Given the description of an element on the screen output the (x, y) to click on. 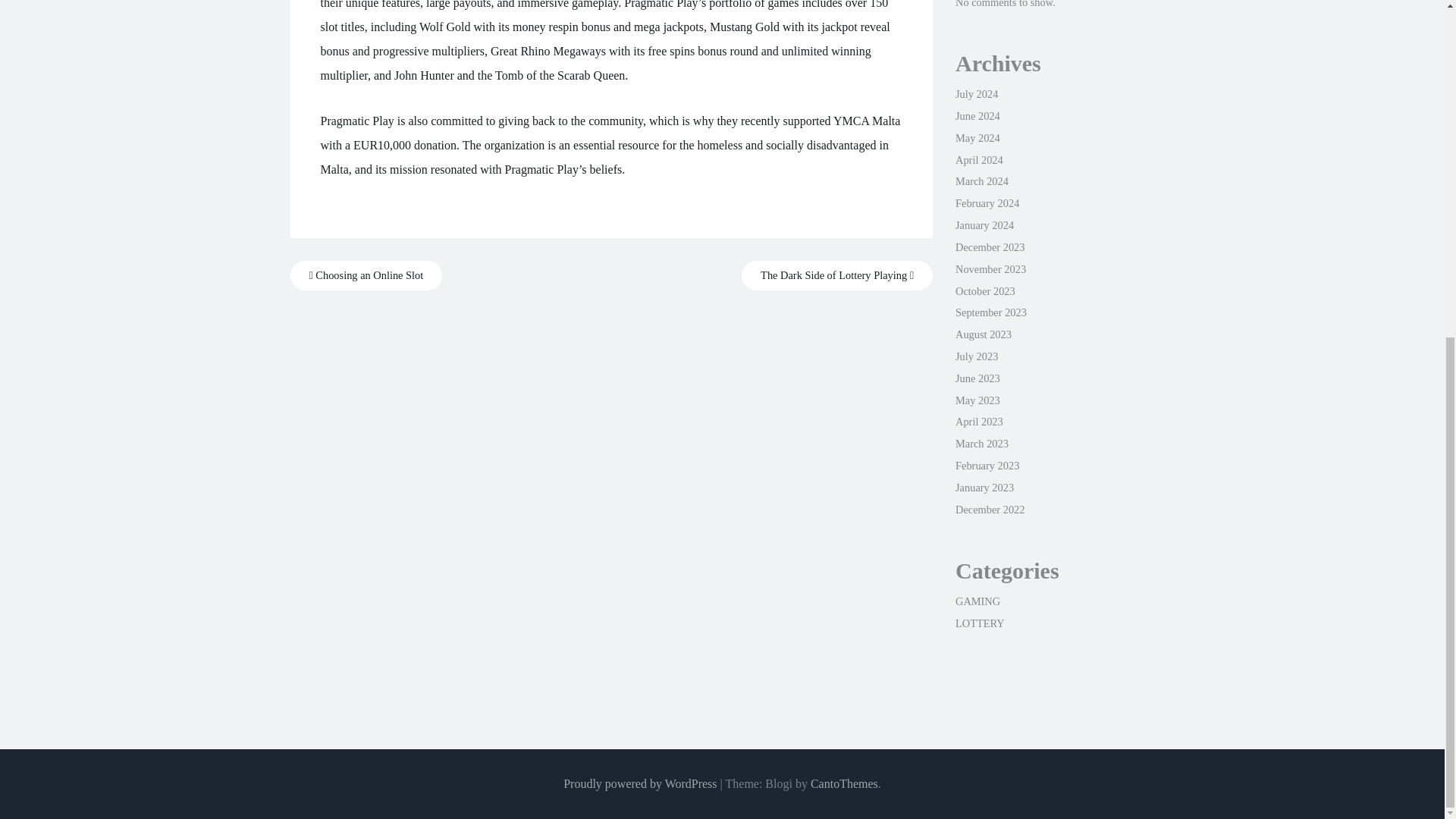
July 2023 (976, 356)
June 2024 (977, 115)
October 2023 (984, 291)
Proudly powered by WordPress (639, 783)
May 2023 (977, 399)
April 2024 (979, 159)
The Dark Side of Lottery Playing (837, 275)
Choosing an Online Slot (365, 275)
February 2024 (987, 203)
September 2023 (990, 312)
January 2023 (984, 487)
December 2022 (990, 509)
November 2023 (990, 268)
April 2023 (979, 421)
GAMING (977, 601)
